Given the description of an element on the screen output the (x, y) to click on. 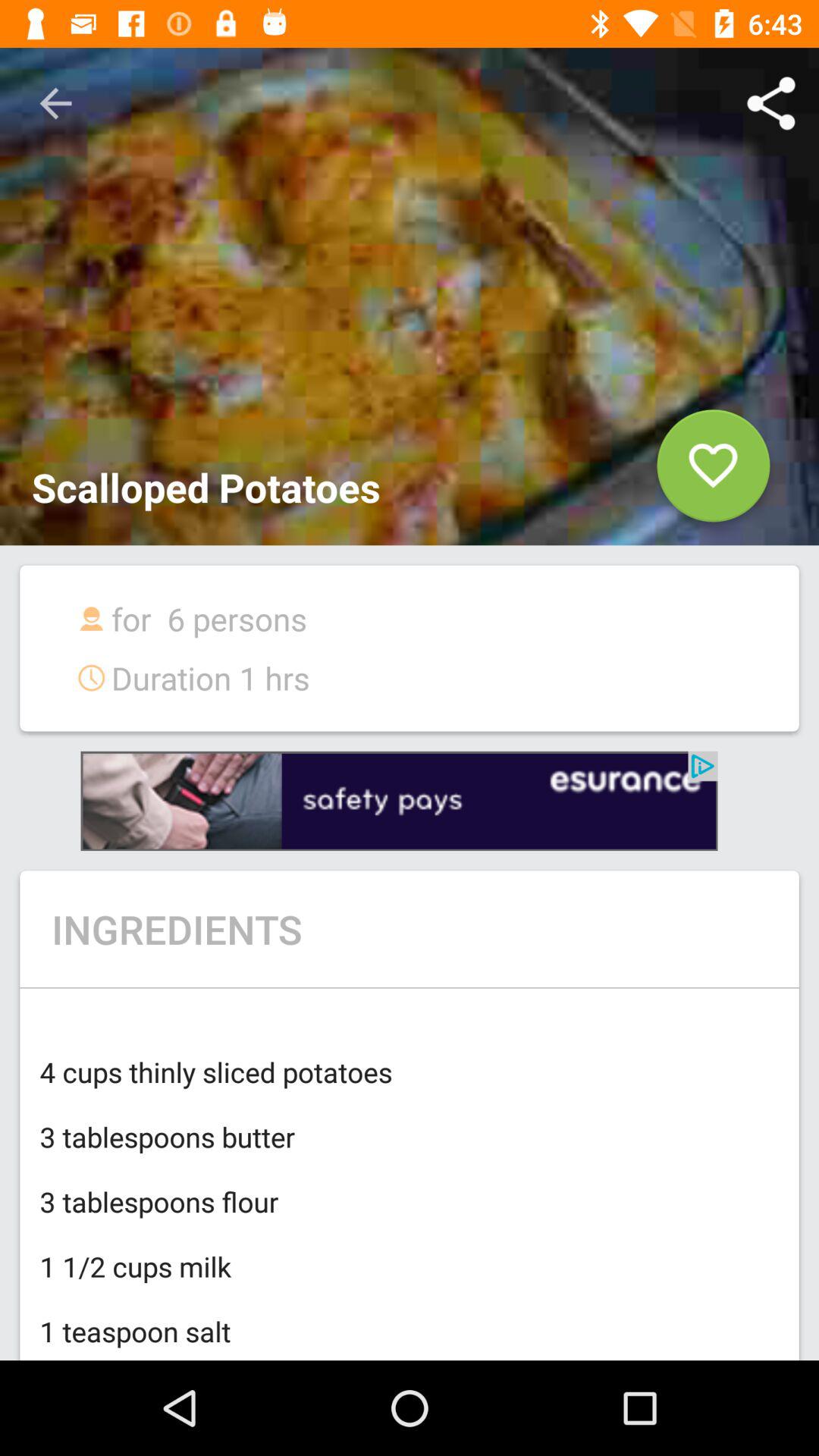
like button (713, 471)
